Given the description of an element on the screen output the (x, y) to click on. 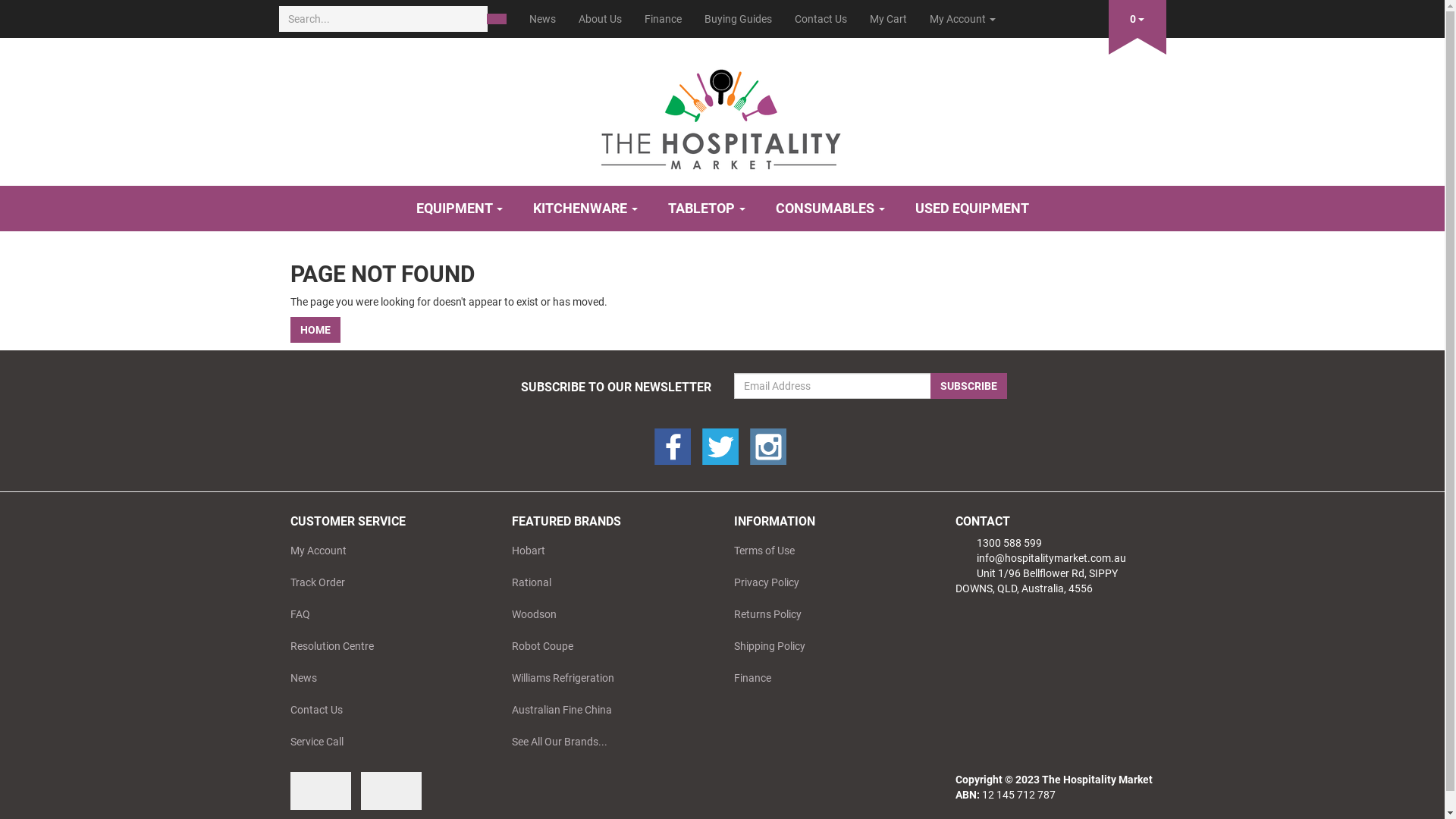
Australian Fine China Element type: text (605, 709)
Finance Element type: text (662, 18)
Subscribe Element type: text (967, 385)
The Hospitality Market Element type: hover (722, 114)
Woodson Element type: text (605, 614)
Track Order Element type: text (384, 582)
Privacy Policy Element type: text (826, 582)
Contact Us Element type: text (384, 709)
USED EQUIPMENT Element type: text (971, 208)
Resolution Centre Element type: text (384, 645)
Search Element type: text (496, 18)
1300 588 599 Element type: text (998, 542)
My Cart Element type: text (888, 18)
Shipping Policy Element type: text (826, 645)
Returns Policy Element type: text (826, 614)
HOME Element type: text (314, 329)
Rational Element type: text (605, 582)
Finance Element type: text (826, 677)
EQUIPMENT Element type: text (458, 208)
Williams Refrigeration Element type: text (605, 677)
CONSUMABLES Element type: text (829, 208)
info@hospitalitymarket.com.au Element type: text (1040, 558)
See All Our Brands... Element type: text (605, 741)
0 Element type: text (1137, 15)
About Us Element type: text (600, 18)
Hobart Element type: text (605, 550)
Service Call Element type: text (384, 741)
FAQ Element type: text (384, 614)
Contact Us Element type: text (819, 18)
News Element type: text (384, 677)
My Account Element type: text (384, 550)
TABLETOP Element type: text (705, 208)
Terms of Use Element type: text (826, 550)
KITCHENWARE Element type: text (584, 208)
Buying Guides Element type: text (738, 18)
Robot Coupe Element type: text (605, 645)
My Account Element type: text (961, 18)
News Element type: text (541, 18)
